Given the description of an element on the screen output the (x, y) to click on. 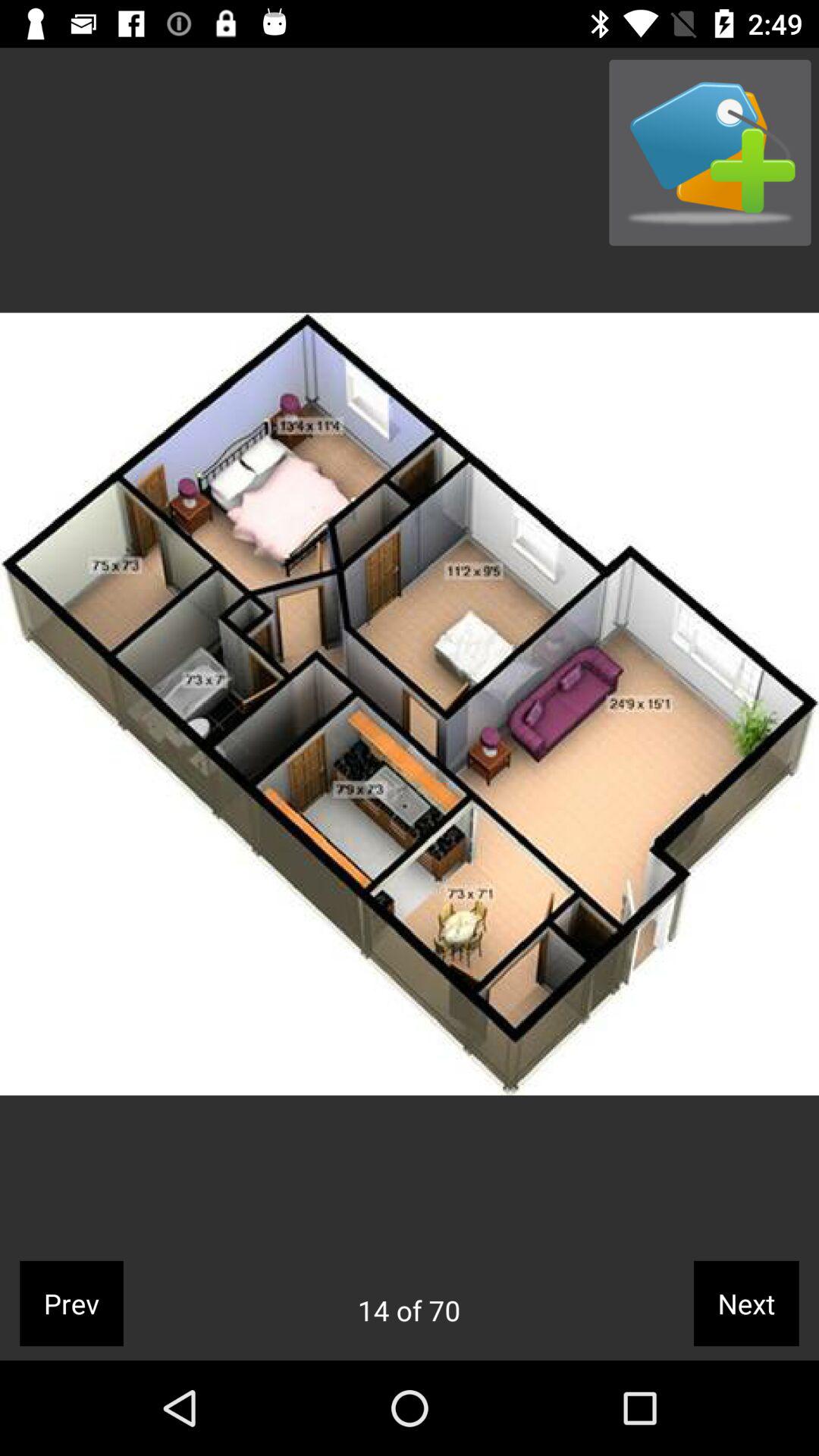
open the icon to the left of the next icon (408, 1310)
